Given the description of an element on the screen output the (x, y) to click on. 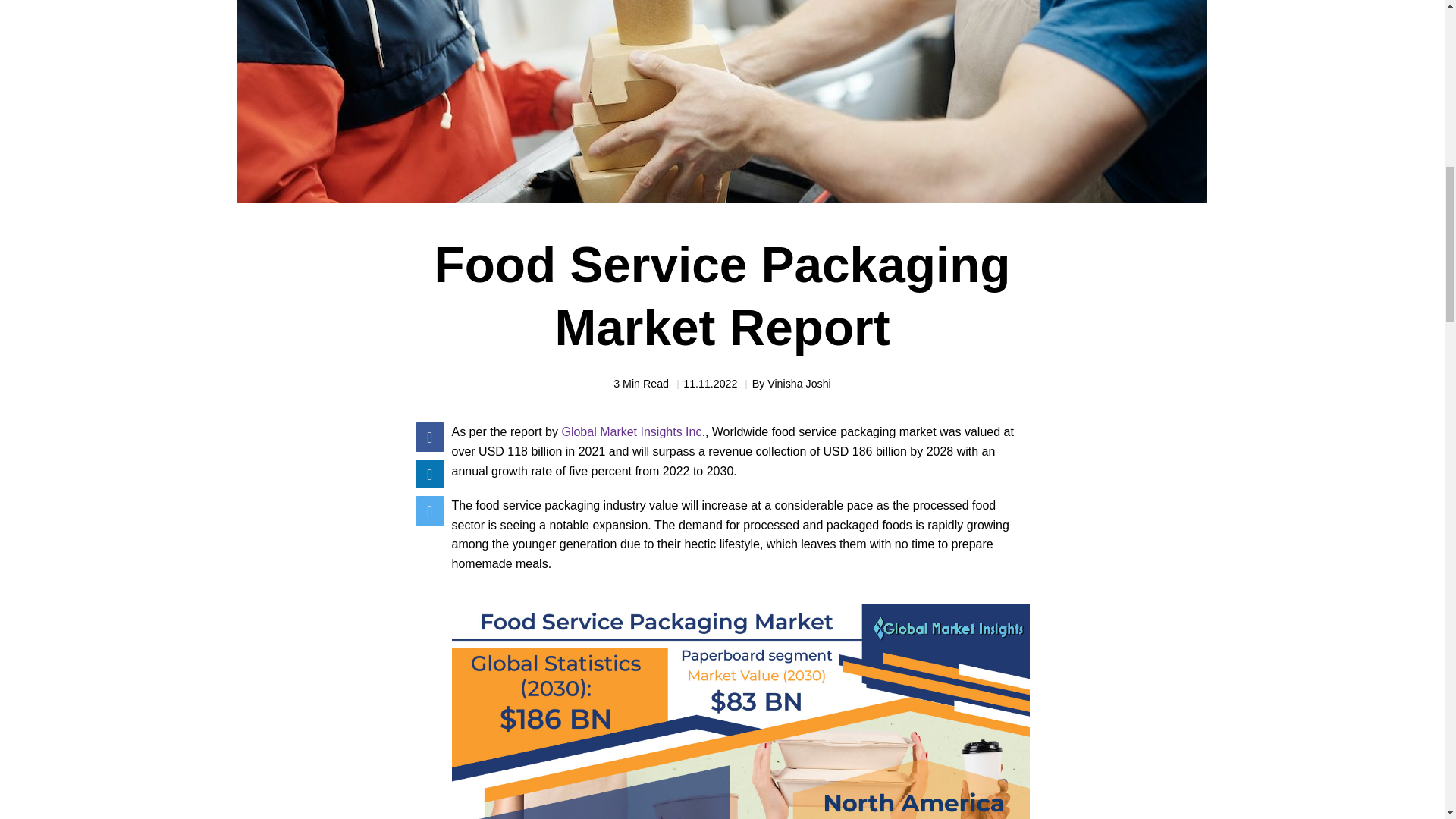
Share via Twitter (429, 510)
Share via LinkedIn (429, 473)
Share via Facebook (429, 436)
Global Market Insights Inc. (632, 431)
